Given the description of an element on the screen output the (x, y) to click on. 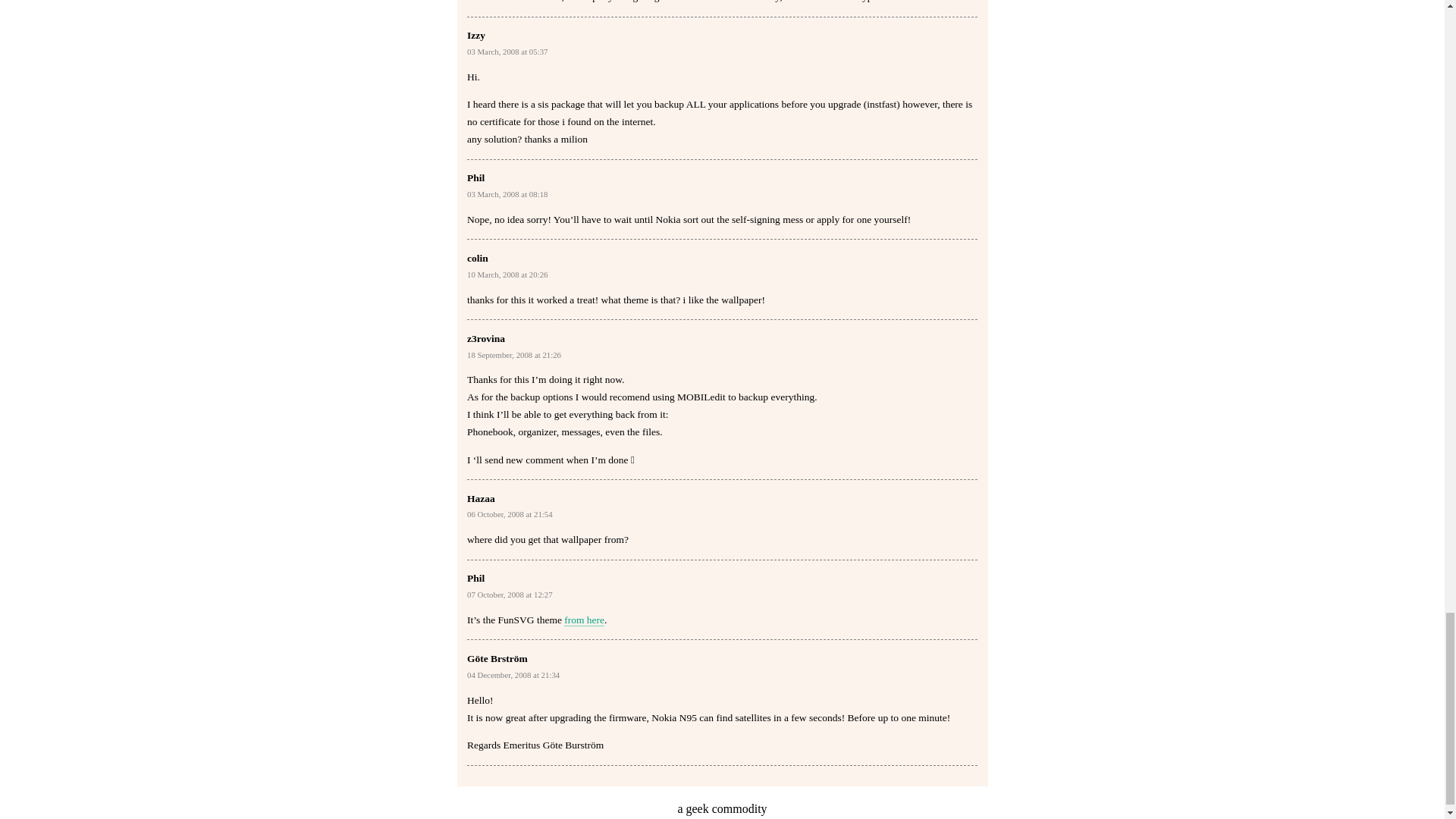
from here (584, 620)
